Given the description of an element on the screen output the (x, y) to click on. 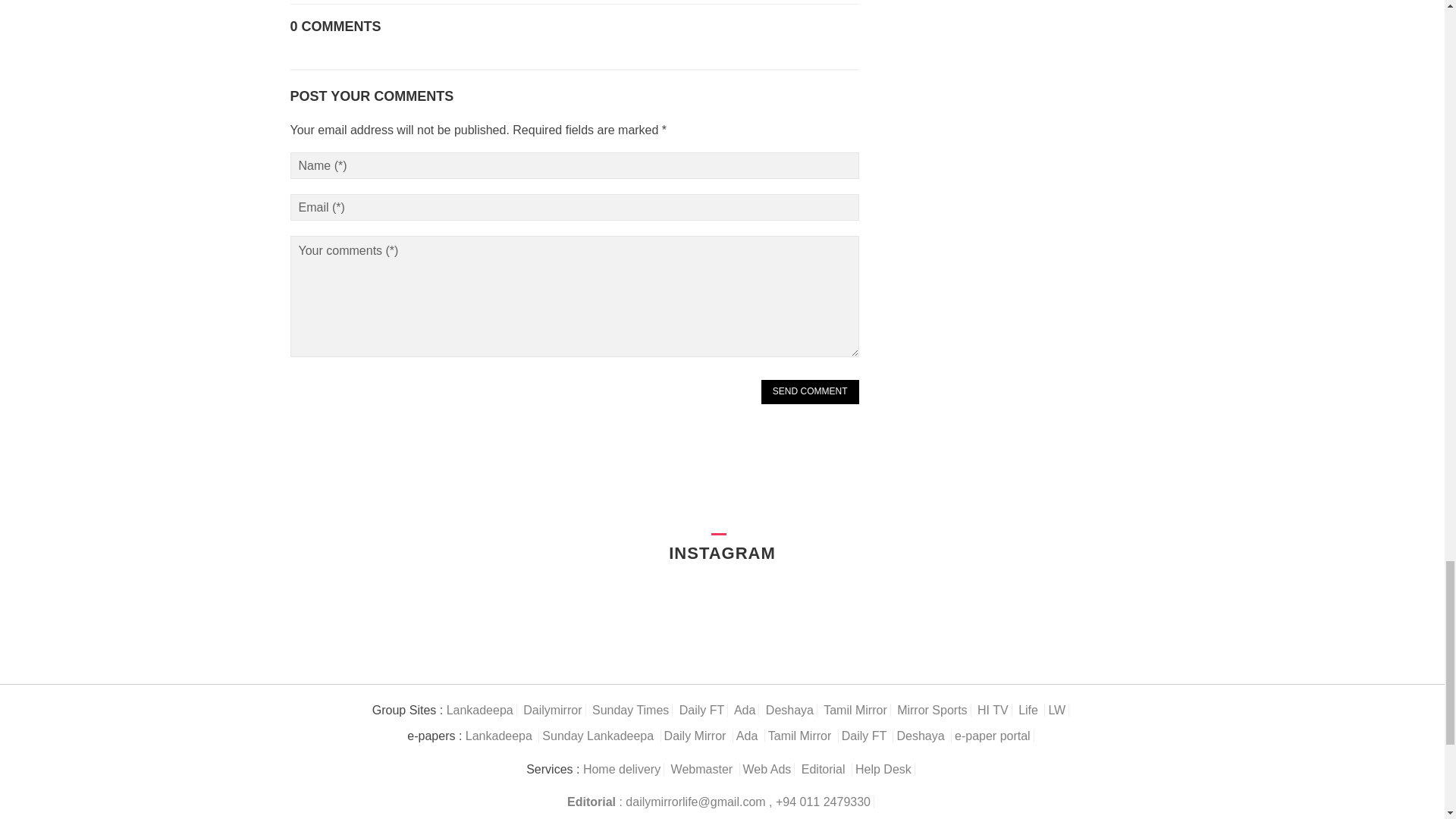
Send Comment (810, 392)
